Given the description of an element on the screen output the (x, y) to click on. 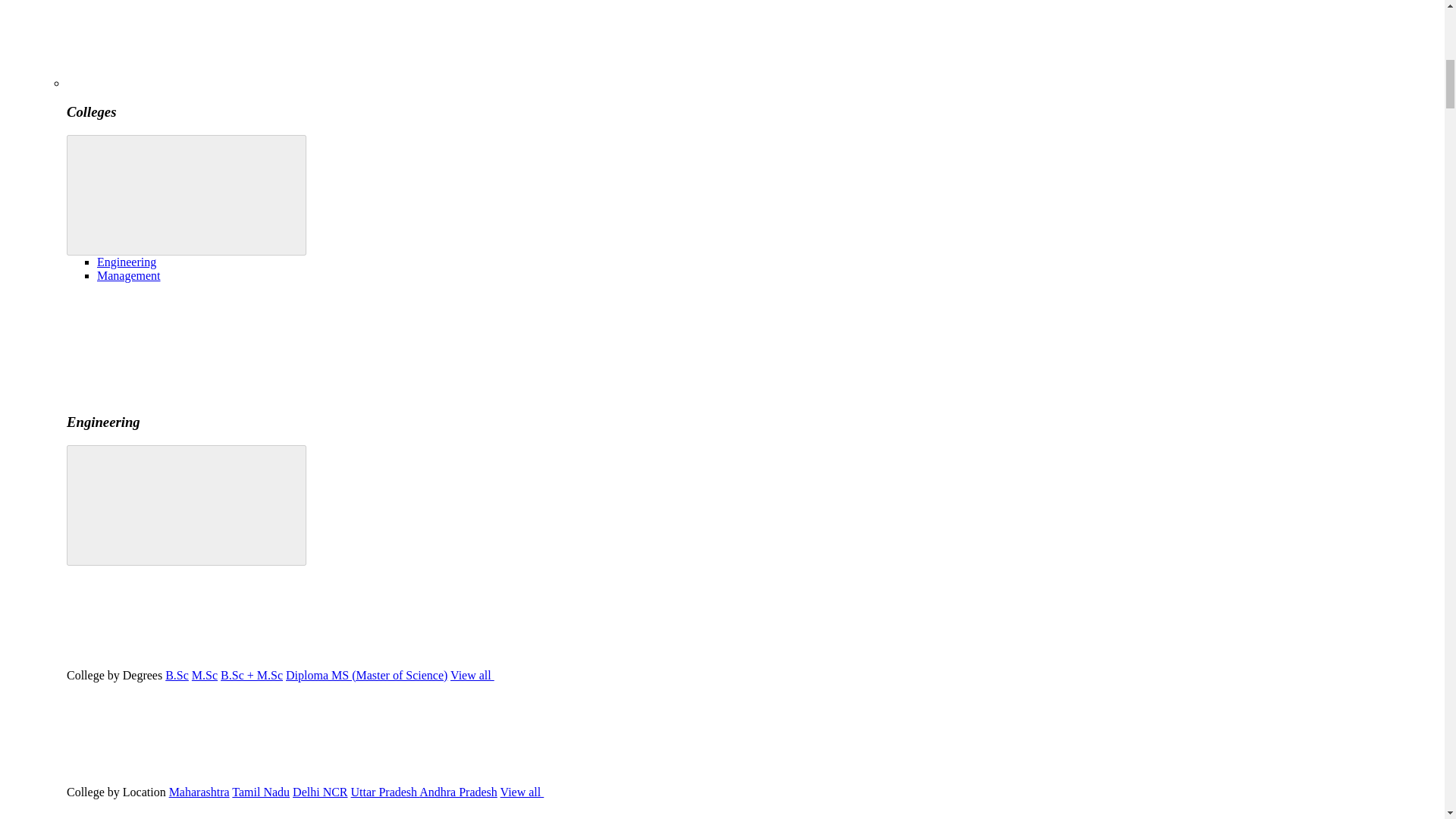
View all (635, 791)
Delhi NCR (319, 791)
Management (128, 275)
Diploma (308, 675)
B.Sc (177, 675)
Engineering (126, 261)
Uttar Pradesh (385, 791)
Maharashtra (199, 791)
View all (585, 675)
Tamil Nadu (260, 791)
M.Sc (204, 675)
Andhra Pradesh (458, 791)
